Given the description of an element on the screen output the (x, y) to click on. 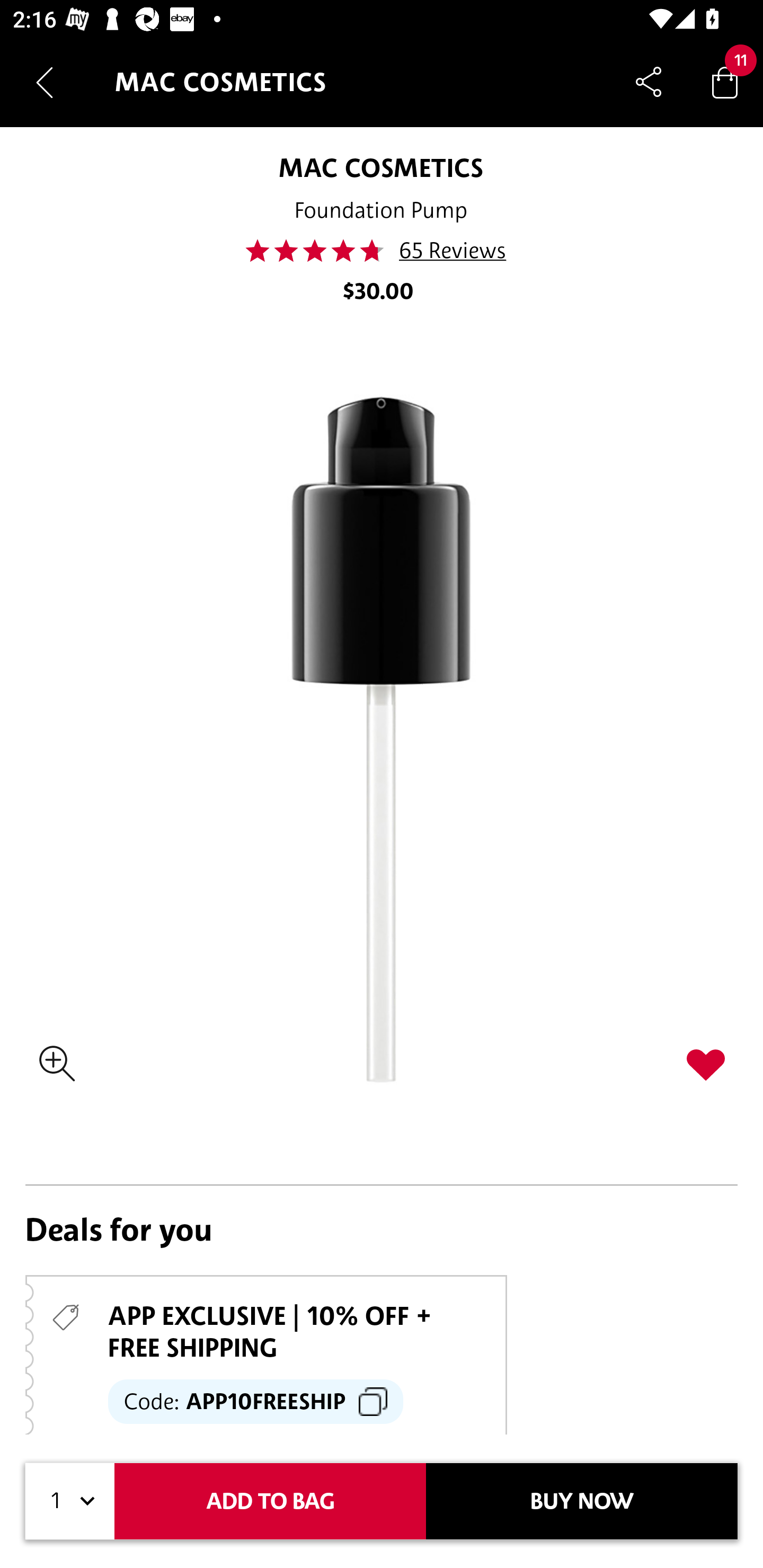
Navigate up (44, 82)
Share (648, 81)
Bag (724, 81)
MAC COSMETICS (380, 167)
47.0 65 Reviews (381, 250)
1 (69, 1500)
ADD TO BAG (269, 1500)
BUY NOW (581, 1500)
